Given the description of an element on the screen output the (x, y) to click on. 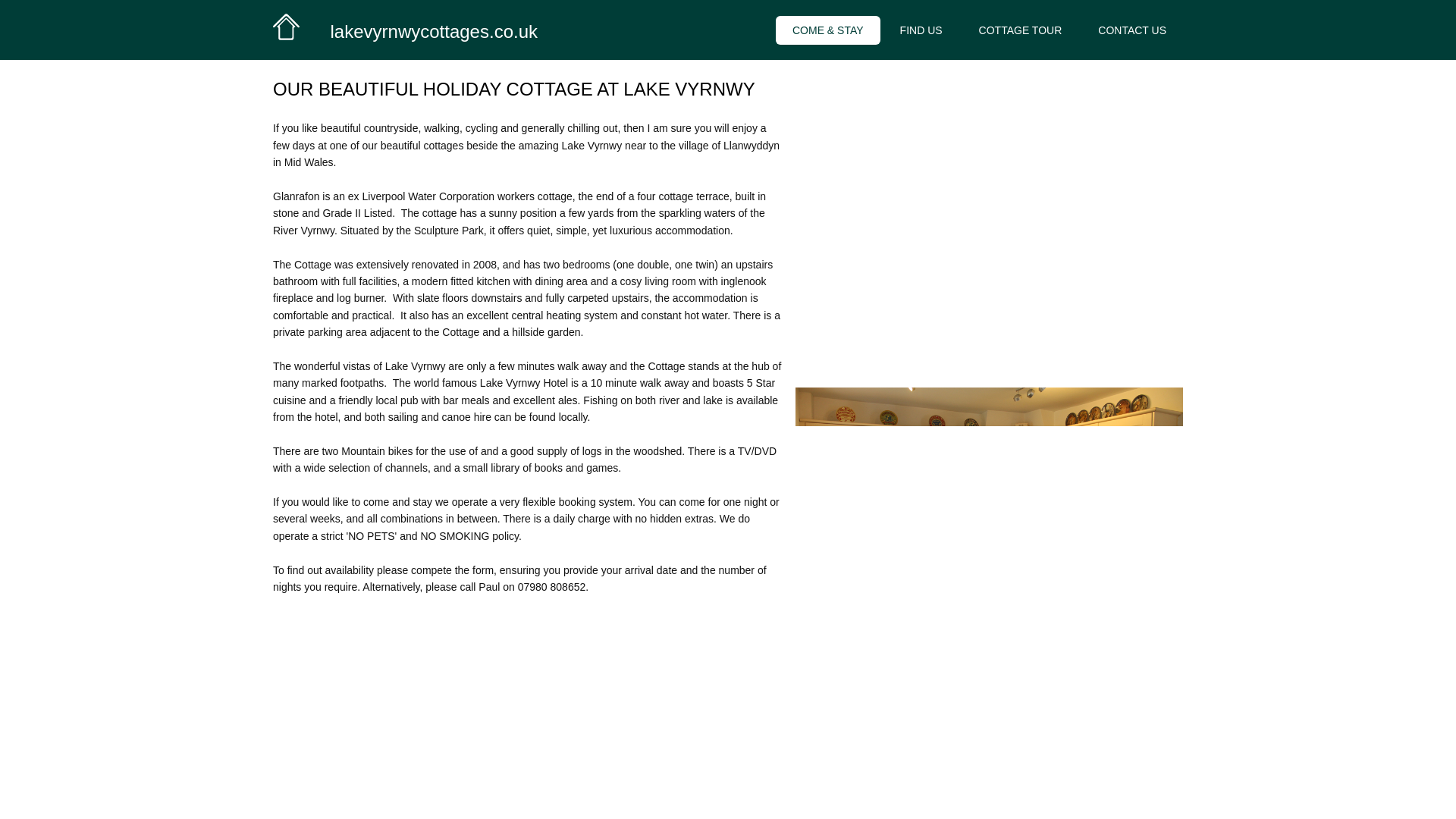
CONTACT US (1131, 30)
Lake Vyrnwy Cottages (286, 26)
COTTAGE TOUR (1020, 30)
lakevyrnwycottages.co.uk (433, 31)
FIND US (921, 30)
Lake Vyrnwy Cottages (405, 28)
